Given the description of an element on the screen output the (x, y) to click on. 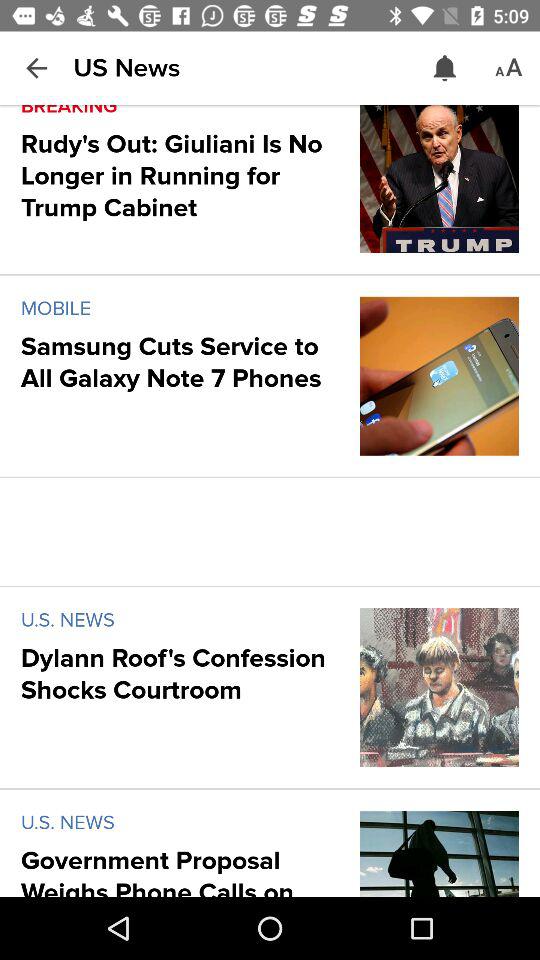
click the us news item (126, 68)
